Given the description of an element on the screen output the (x, y) to click on. 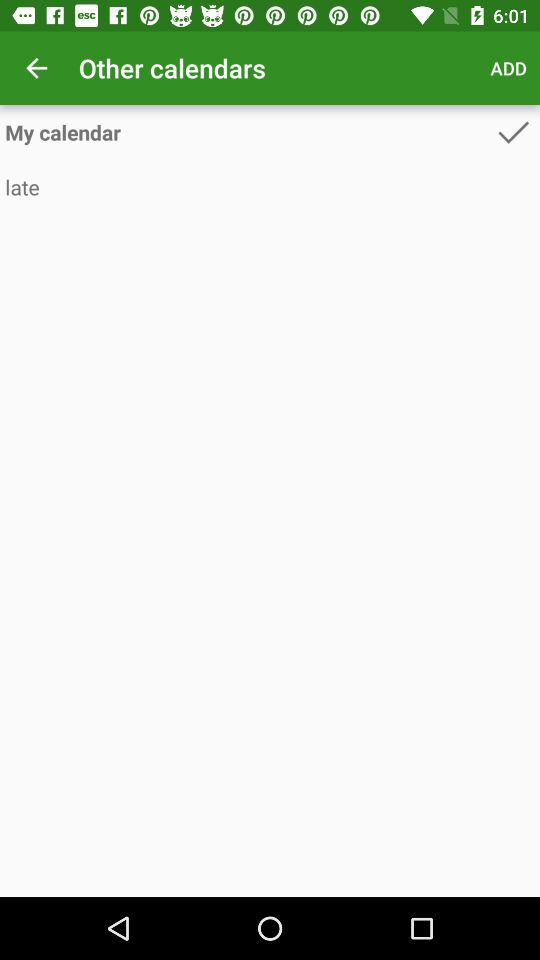
scroll until late icon (269, 186)
